Given the description of an element on the screen output the (x, y) to click on. 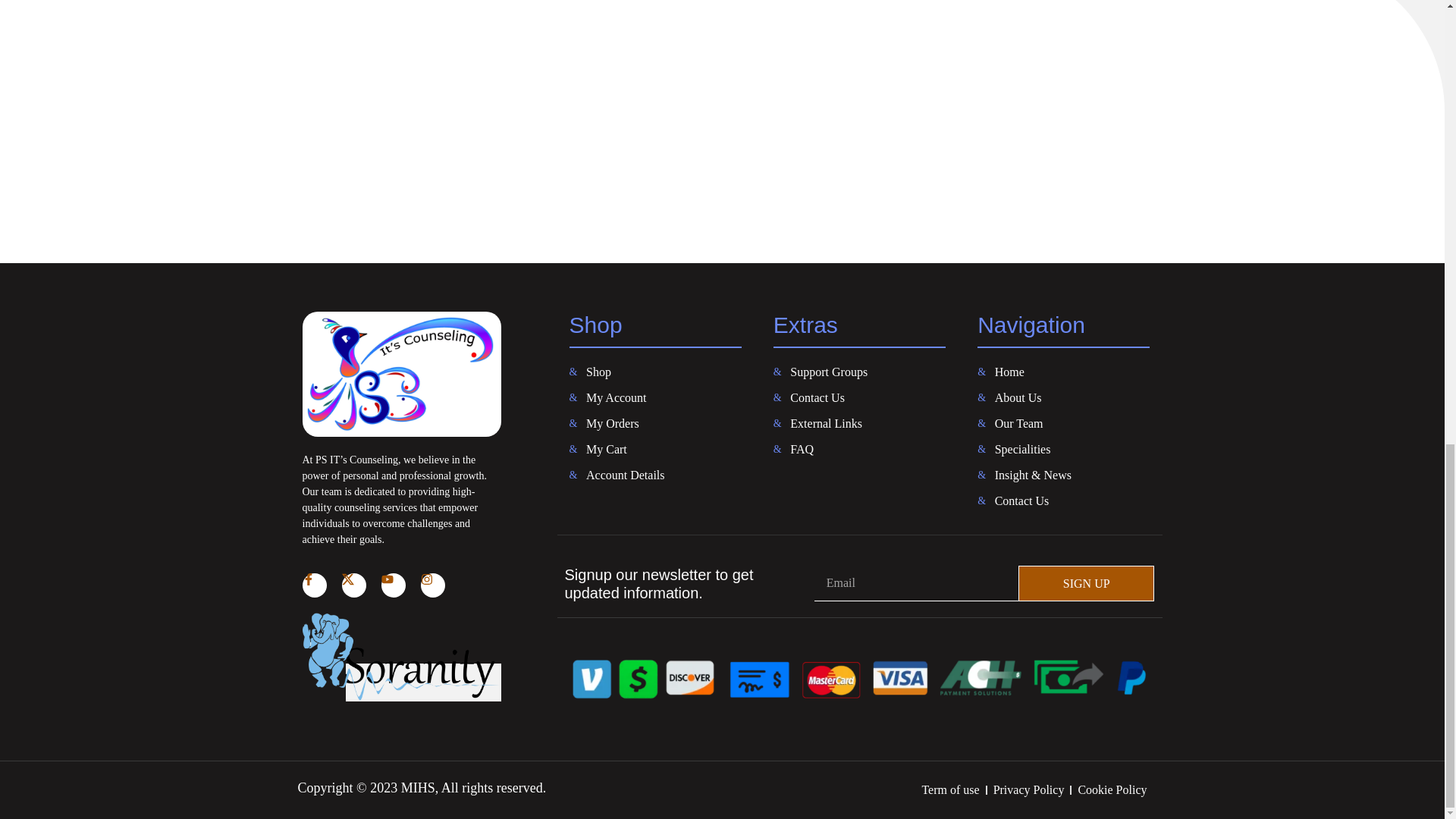
Our Team (1063, 423)
Specialities (1063, 449)
Shop (655, 372)
Contact Us (858, 398)
Contact Us (1063, 501)
Support Groups (858, 372)
About Us (1063, 398)
My Orders (655, 423)
FAQ (858, 449)
External Links (858, 423)
My Account (655, 398)
Home (1063, 372)
Account Details (655, 475)
